Given the description of an element on the screen output the (x, y) to click on. 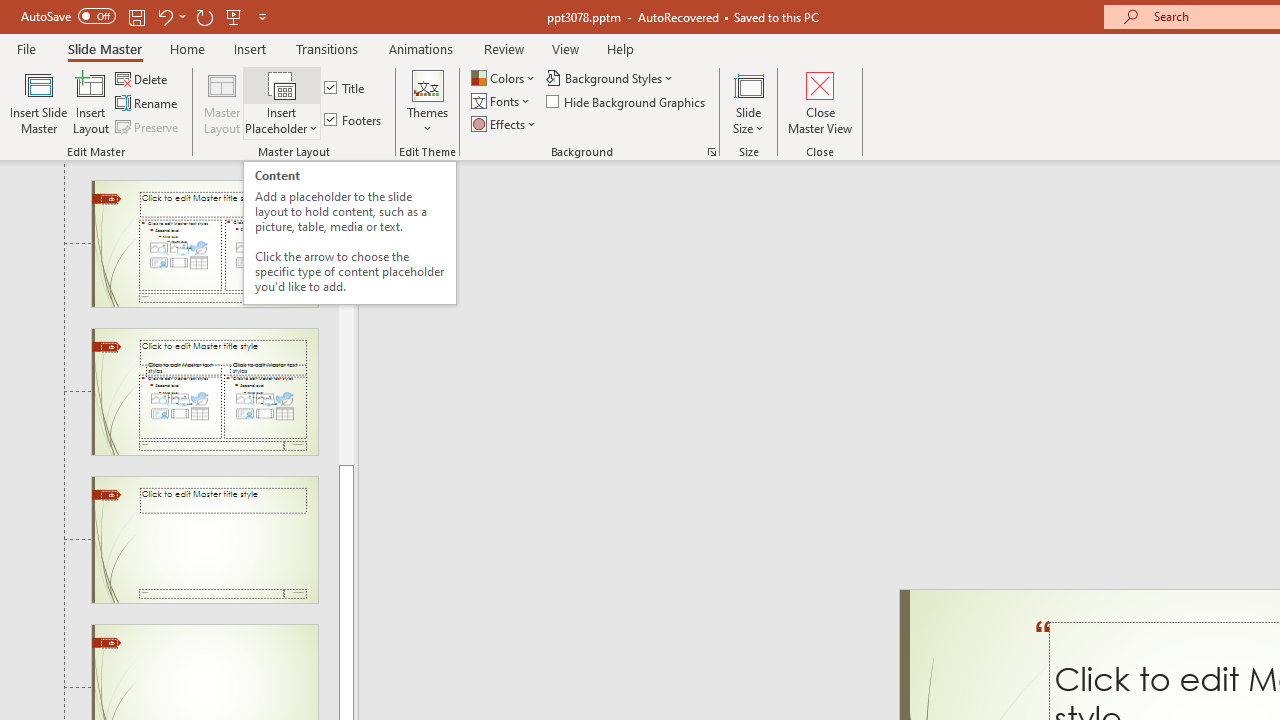
Slide Two Content Layout: used by no slides (204, 243)
Fonts (502, 101)
Hide Background Graphics (626, 101)
Insert Layout (91, 102)
Close Master View (820, 102)
TextBox 13 (1043, 647)
